Given the description of an element on the screen output the (x, y) to click on. 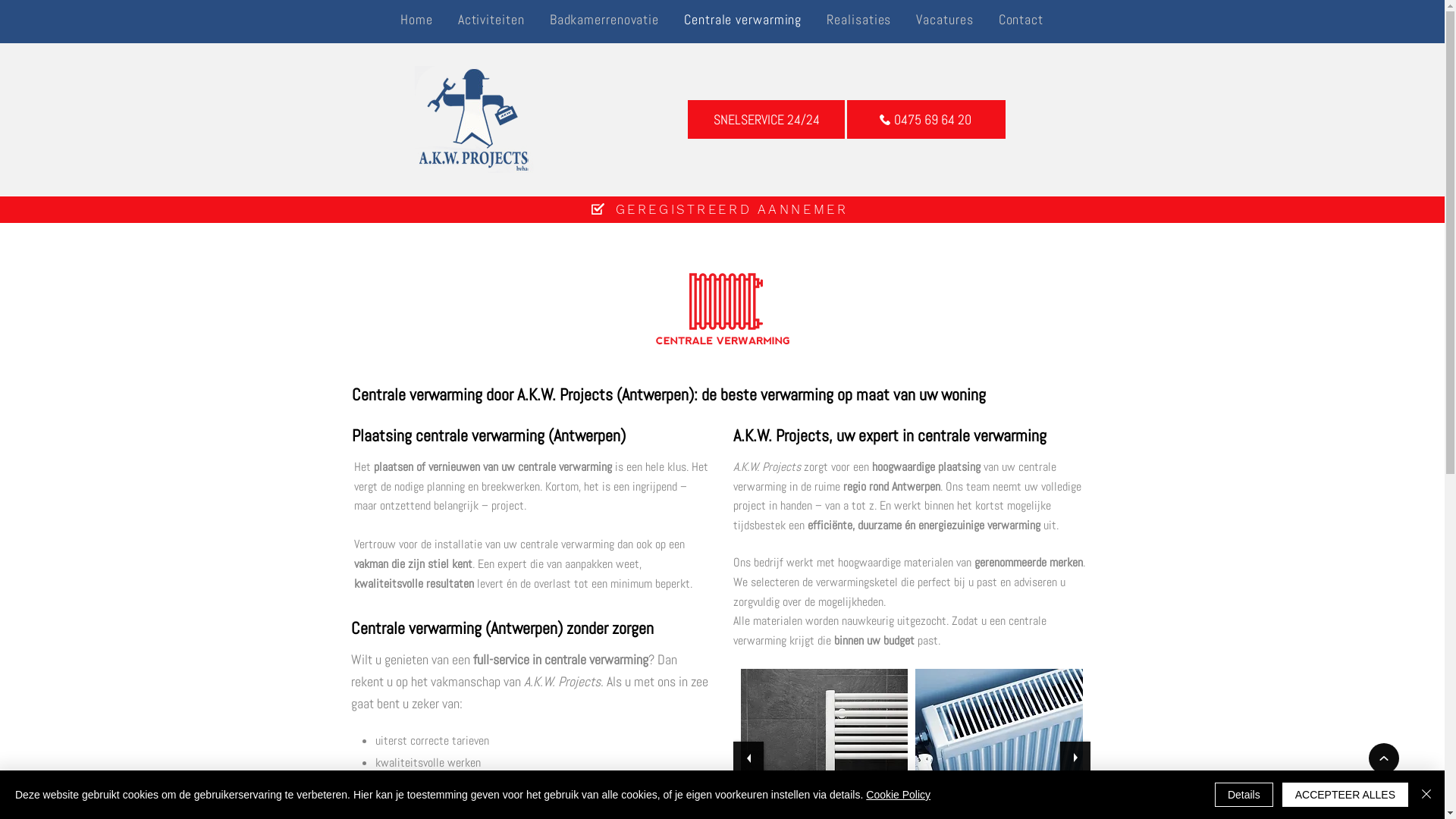
Contact Element type: text (1020, 21)
Centrale verwarming Element type: text (742, 21)
0475 69 64 20 Element type: text (924, 119)
Cookie Policy Element type: text (898, 794)
 Algemene Karweiwerken A.K.W. Projects  Element type: hover (473, 118)
Details Element type: text (1243, 794)
Realisaties Element type: text (859, 21)
0475 69 64 20 Element type: text (925, 119)
ACCEPTEER ALLES Element type: text (1345, 794)
SNELSERVICE 24/24 Element type: text (765, 119)
Vacatures Element type: text (944, 21)
Activiteiten Element type: text (490, 21)
Badkamerrenovatie Element type: text (603, 21)
Home Element type: text (416, 21)
